Given the description of an element on the screen output the (x, y) to click on. 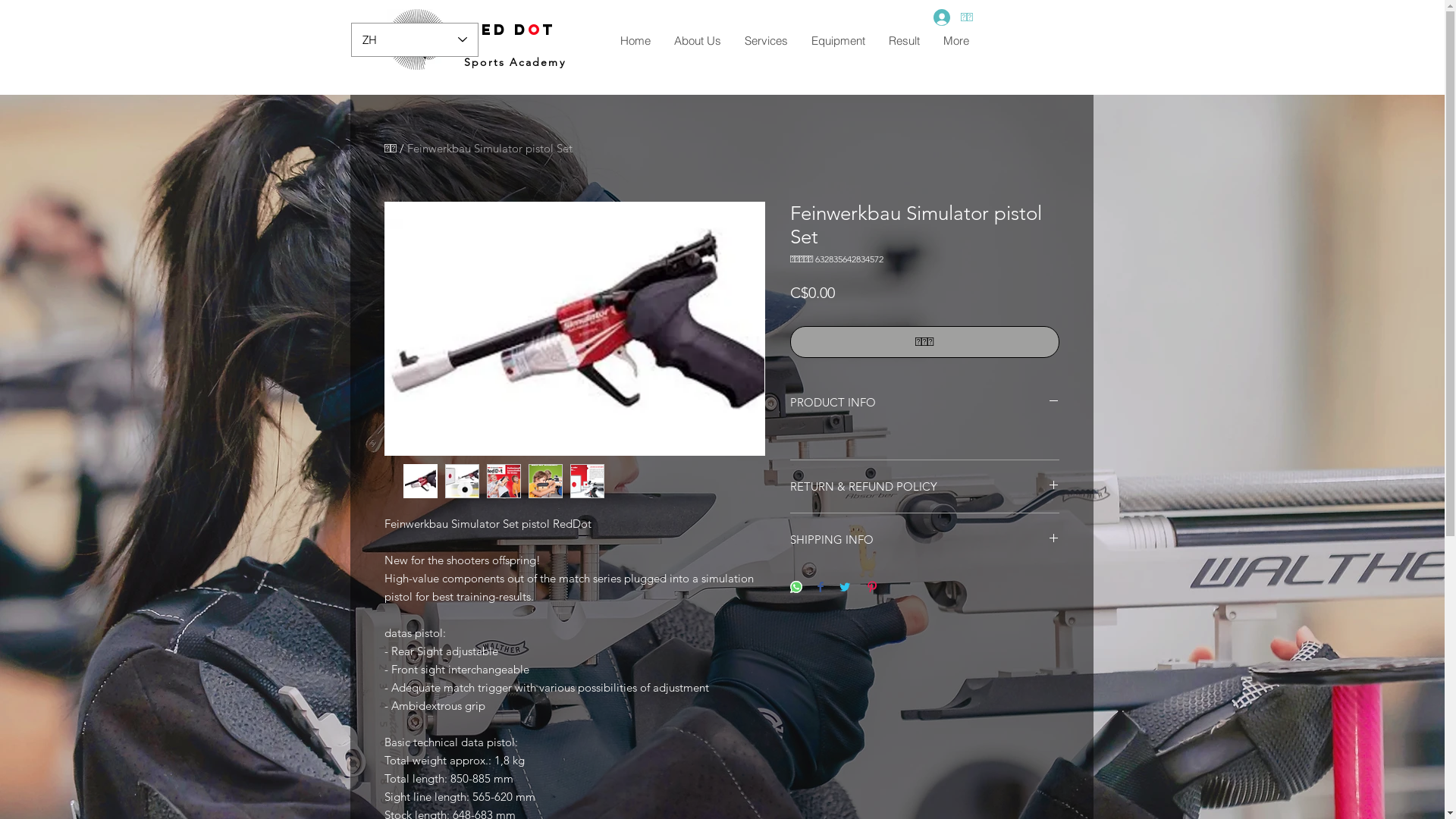
Home Element type: text (635, 40)
SHIPPING INFO Element type: text (924, 539)
About Us Element type: text (696, 40)
PRODUCT INFO Element type: text (924, 402)
RED DOT  Element type: text (514, 29)
Services Element type: text (765, 40)
RETURN & REFUND POLICY Element type: text (924, 486)
Feinwerkbau Simulator pistol Set Element type: text (488, 148)
Result Element type: text (903, 40)
Sports Academy Element type: text (514, 62)
Equipment Element type: text (837, 40)
177 Club Logo new.jpg Element type: hover (417, 39)
